Given the description of an element on the screen output the (x, y) to click on. 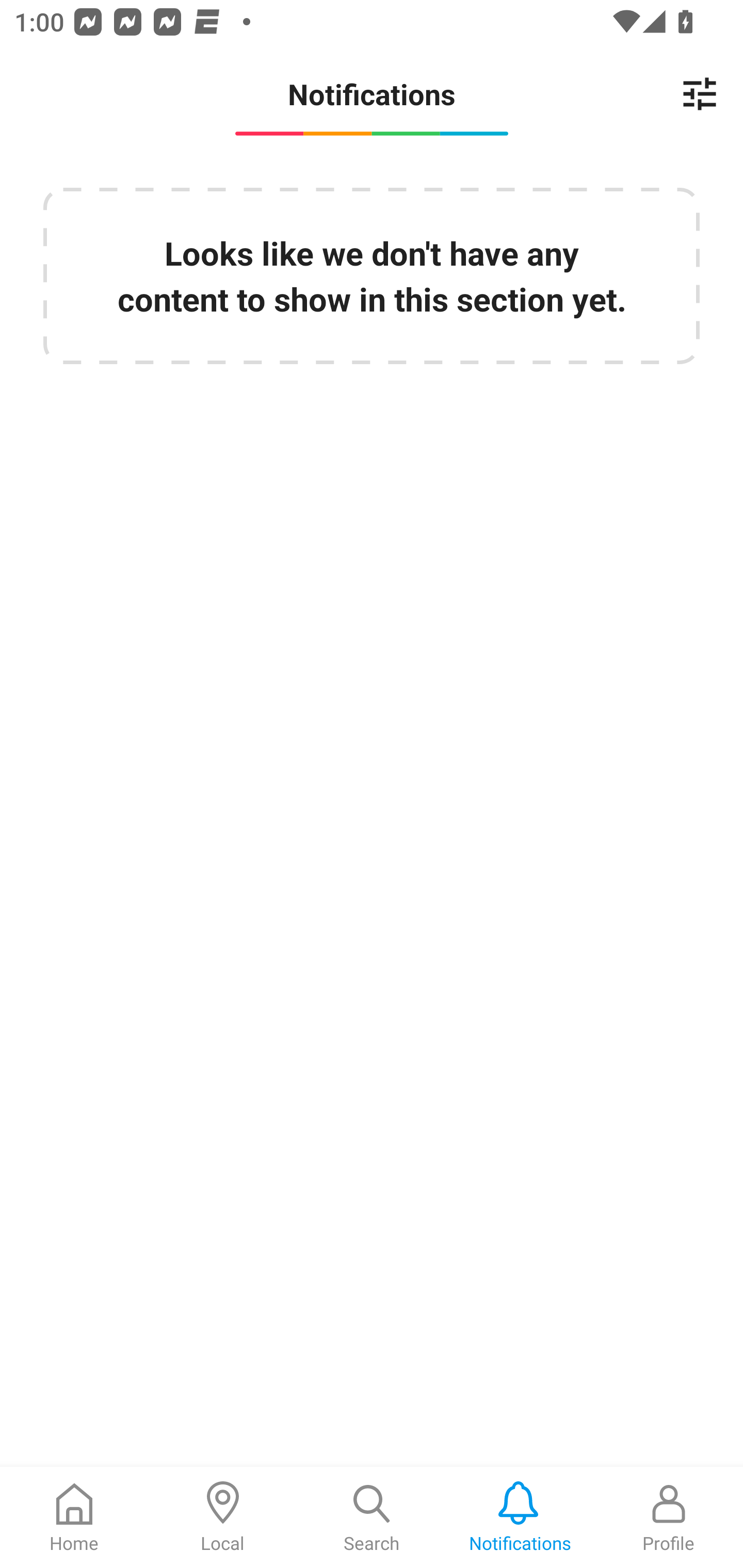
Notification Settings (699, 93)
Home (74, 1517)
Local (222, 1517)
Search (371, 1517)
Profile (668, 1517)
